Given the description of an element on the screen output the (x, y) to click on. 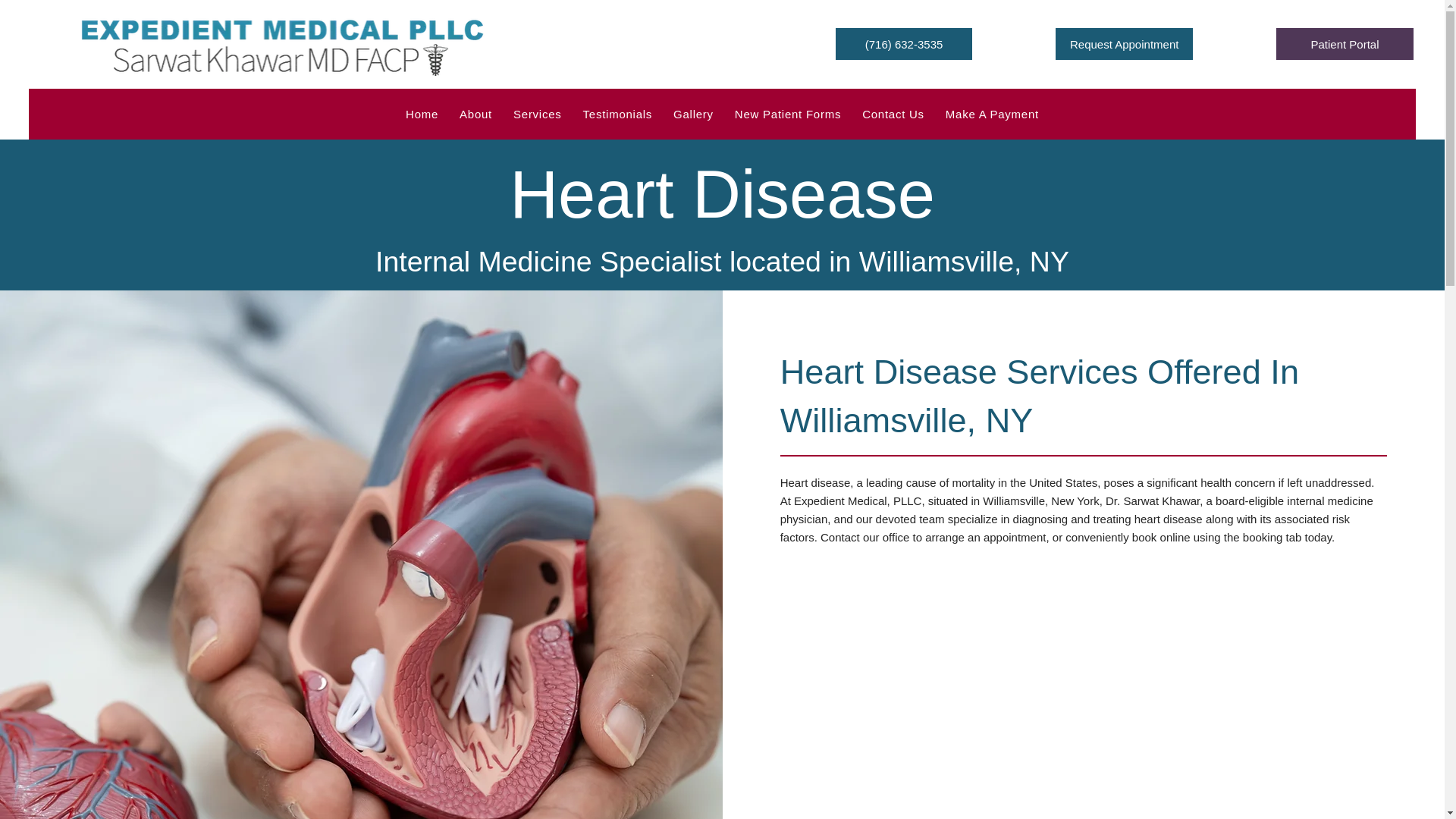
Testimonials (618, 113)
Gallery (692, 113)
Contact Us (892, 113)
Make A Payment (991, 113)
Patient Portal (1344, 43)
Home (421, 113)
About (475, 113)
New Patient Forms (787, 113)
Request Appointment (1123, 43)
